Given the description of an element on the screen output the (x, y) to click on. 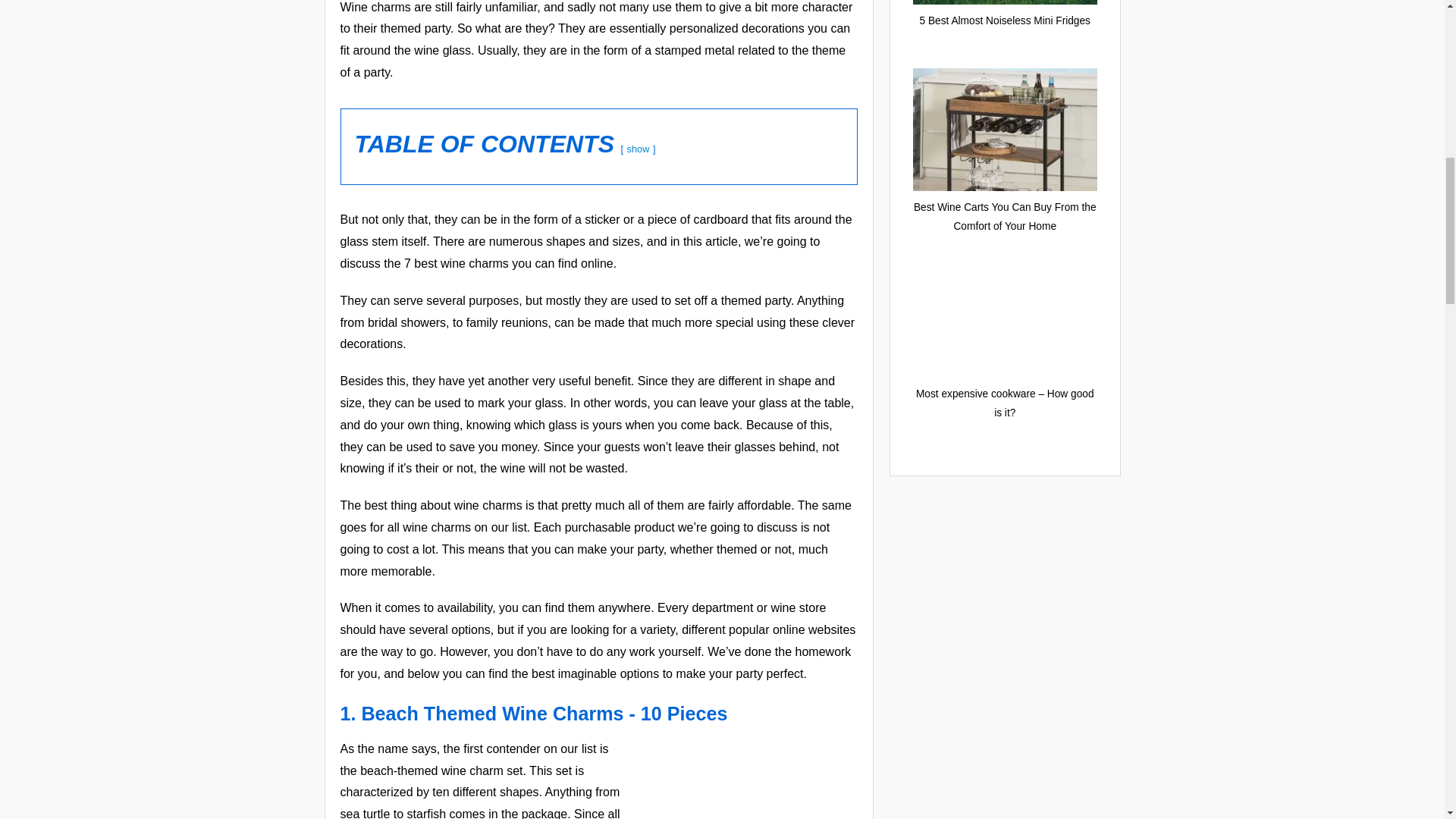
Beach Themed Wine Charms - 10 Pieces (543, 712)
Beach Themed Wine Charms - 10 Pieces (543, 712)
Beach Themed Wine Charms - 10 Pieces (743, 778)
show (638, 148)
